Given the description of an element on the screen output the (x, y) to click on. 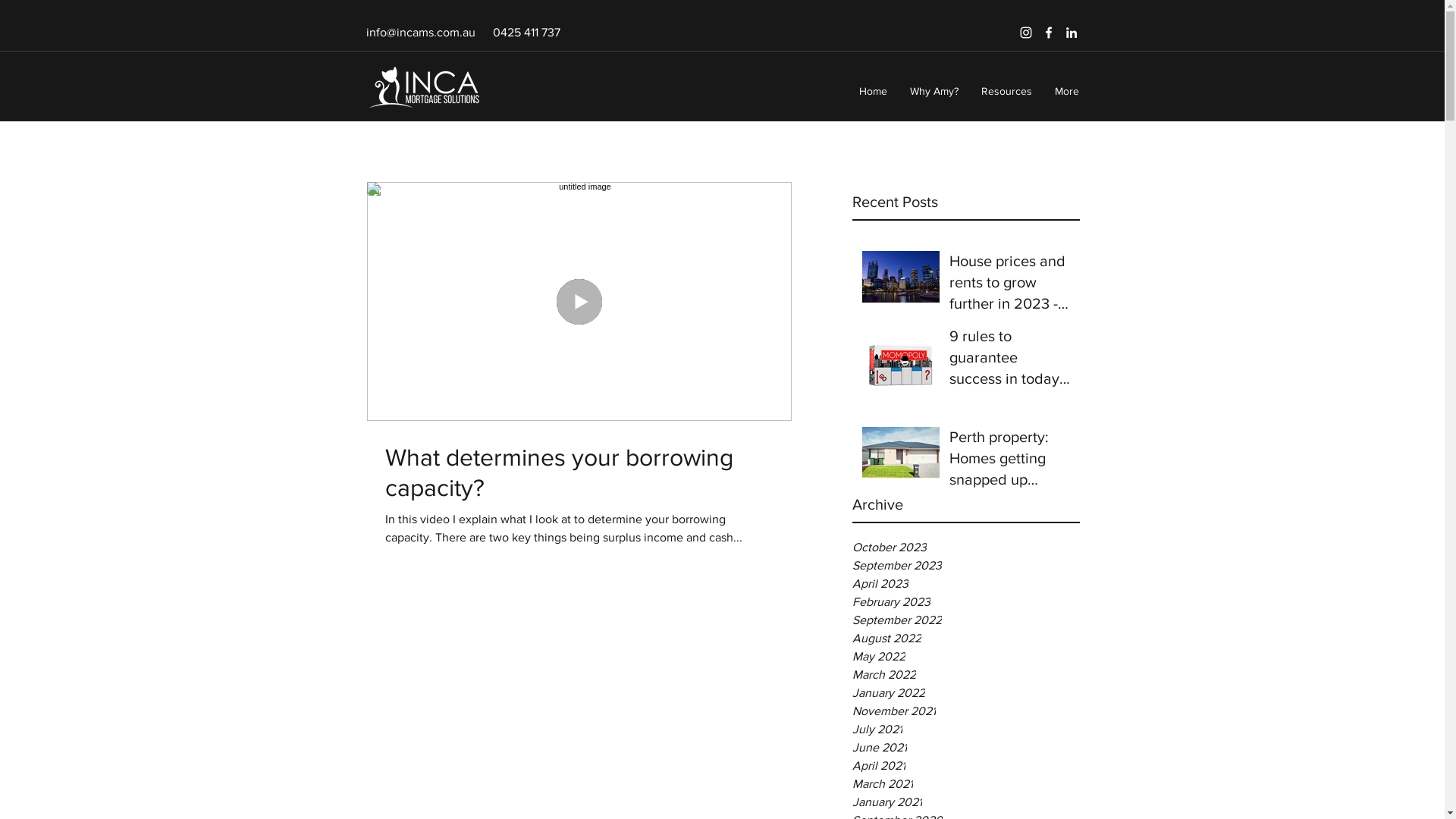
Why Amy? Element type: text (933, 90)
What determines your borrowing capacity? Element type: text (579, 472)
info@incams.com.au Element type: text (419, 31)
June 2021 Element type: text (965, 747)
March 2022 Element type: text (965, 674)
Resources Element type: text (1005, 90)
October 2023 Element type: text (965, 547)
July 2021 Element type: text (965, 729)
September 2023 Element type: text (965, 565)
February 2023 Element type: text (965, 602)
January 2021 Element type: text (965, 802)
April 2023 Element type: text (965, 583)
April 2021 Element type: text (965, 765)
Home Element type: text (872, 90)
November 2021 Element type: text (965, 711)
January 2022 Element type: text (965, 693)
September 2022 Element type: text (965, 620)
August 2022 Element type: text (965, 638)
May 2022 Element type: text (965, 656)
March 2021 Element type: text (965, 784)
